Given the description of an element on the screen output the (x, y) to click on. 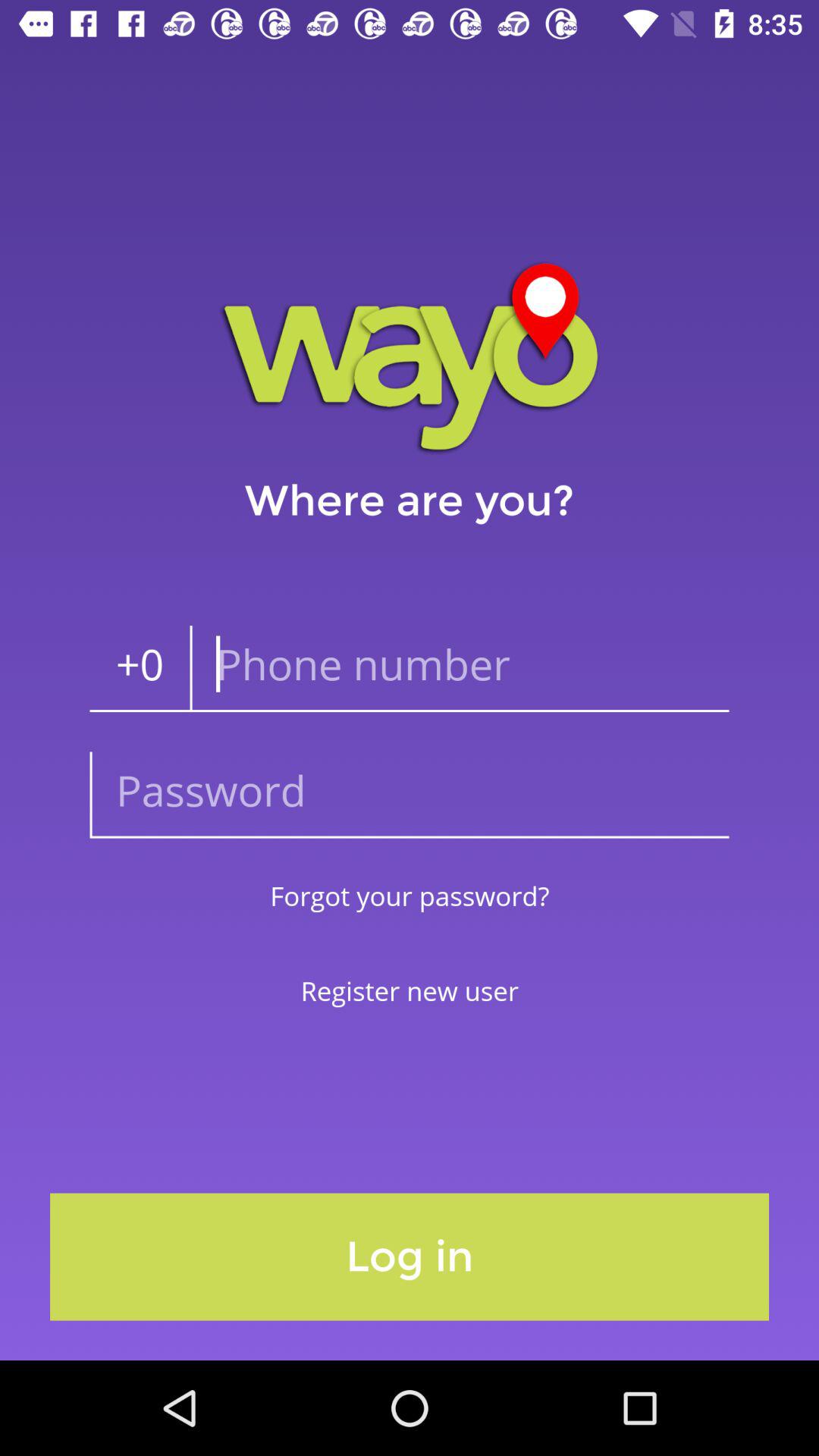
click the icon below register new user icon (409, 1256)
